Given the description of an element on the screen output the (x, y) to click on. 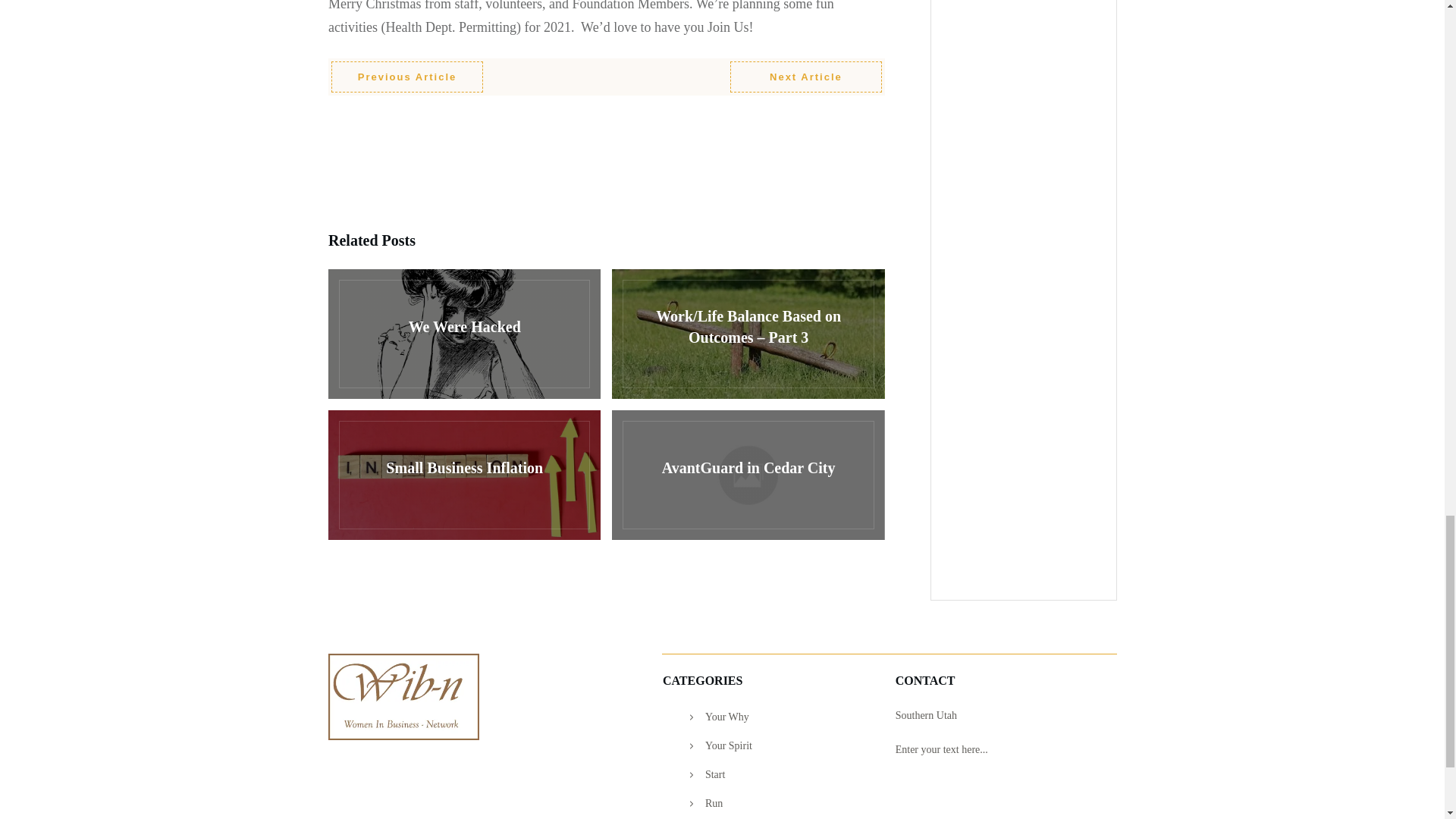
Small Business Inflation (464, 474)
AvantGuard in Cedar City (747, 474)
Start (714, 774)
Next Article (806, 77)
Previous Article (407, 77)
Run (713, 803)
We Were Hacked (464, 333)
Your Why (726, 717)
Your Spirit (728, 745)
